Given the description of an element on the screen output the (x, y) to click on. 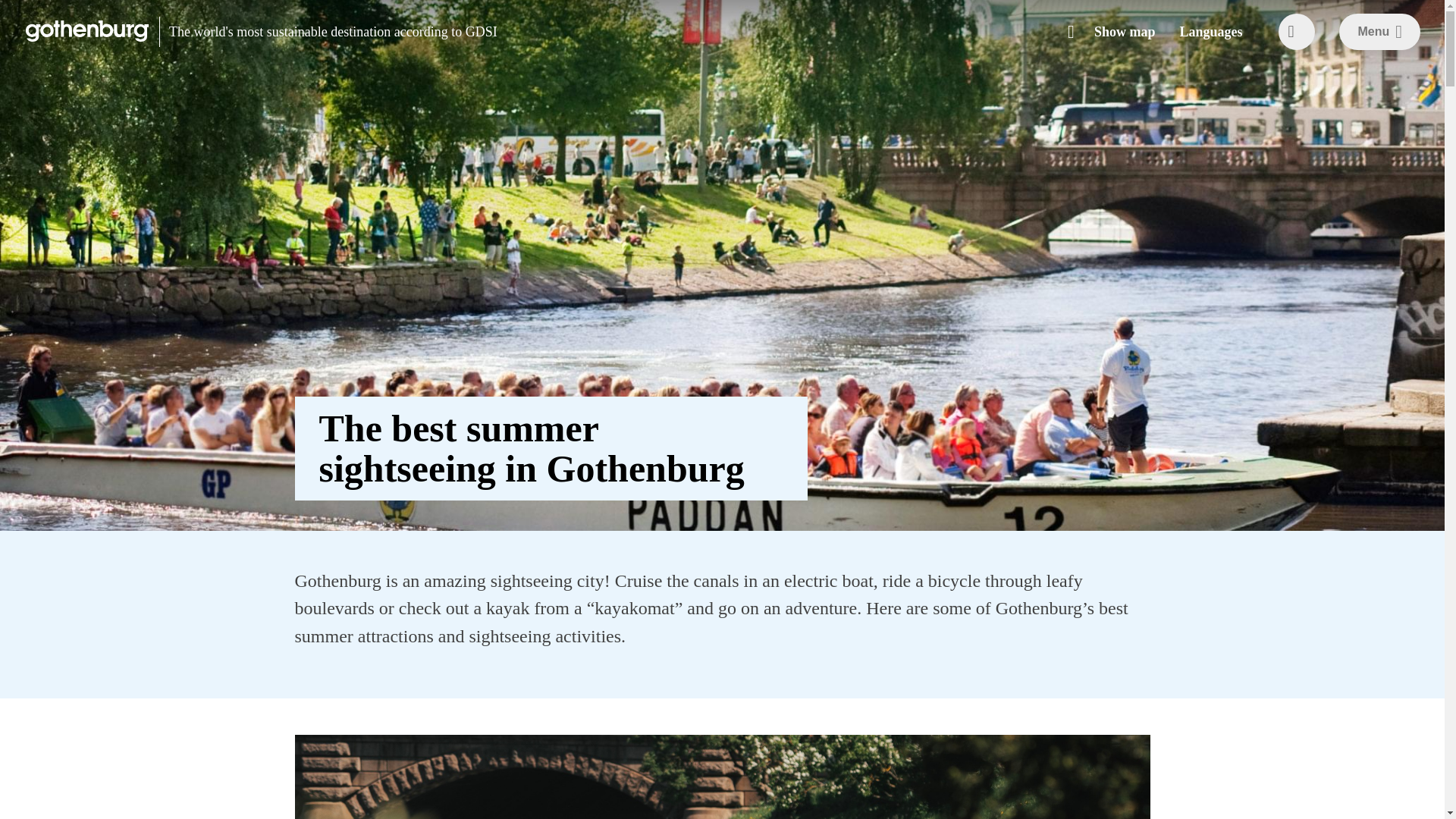
Menu (1380, 31)
The world's most sustainable destination according to GDSI (328, 32)
Show map (1117, 32)
Languages (1210, 32)
